Given the description of an element on the screen output the (x, y) to click on. 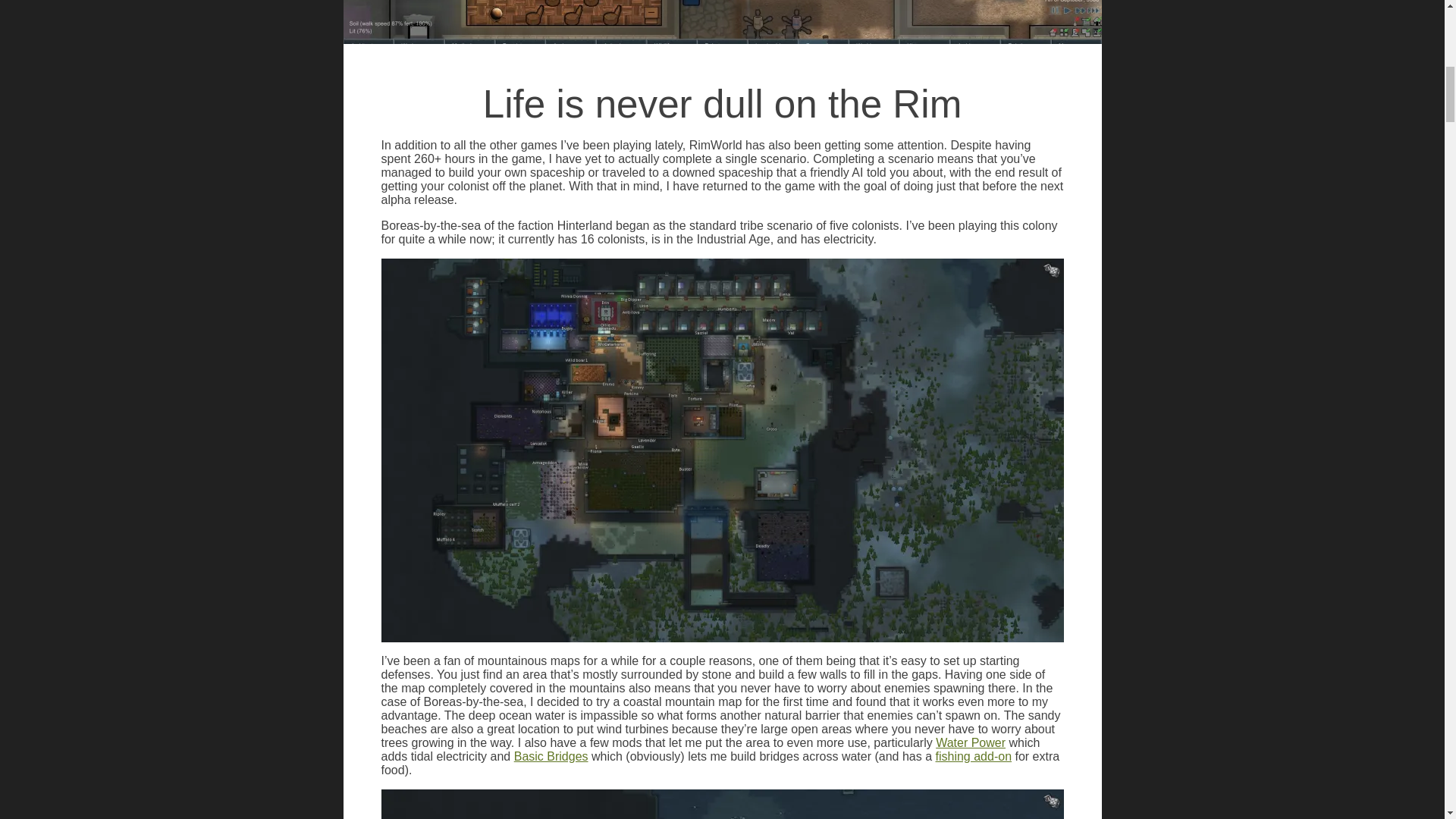
Basic Bridges (550, 756)
Water Power (971, 742)
fishing add-on (973, 756)
